Given the description of an element on the screen output the (x, y) to click on. 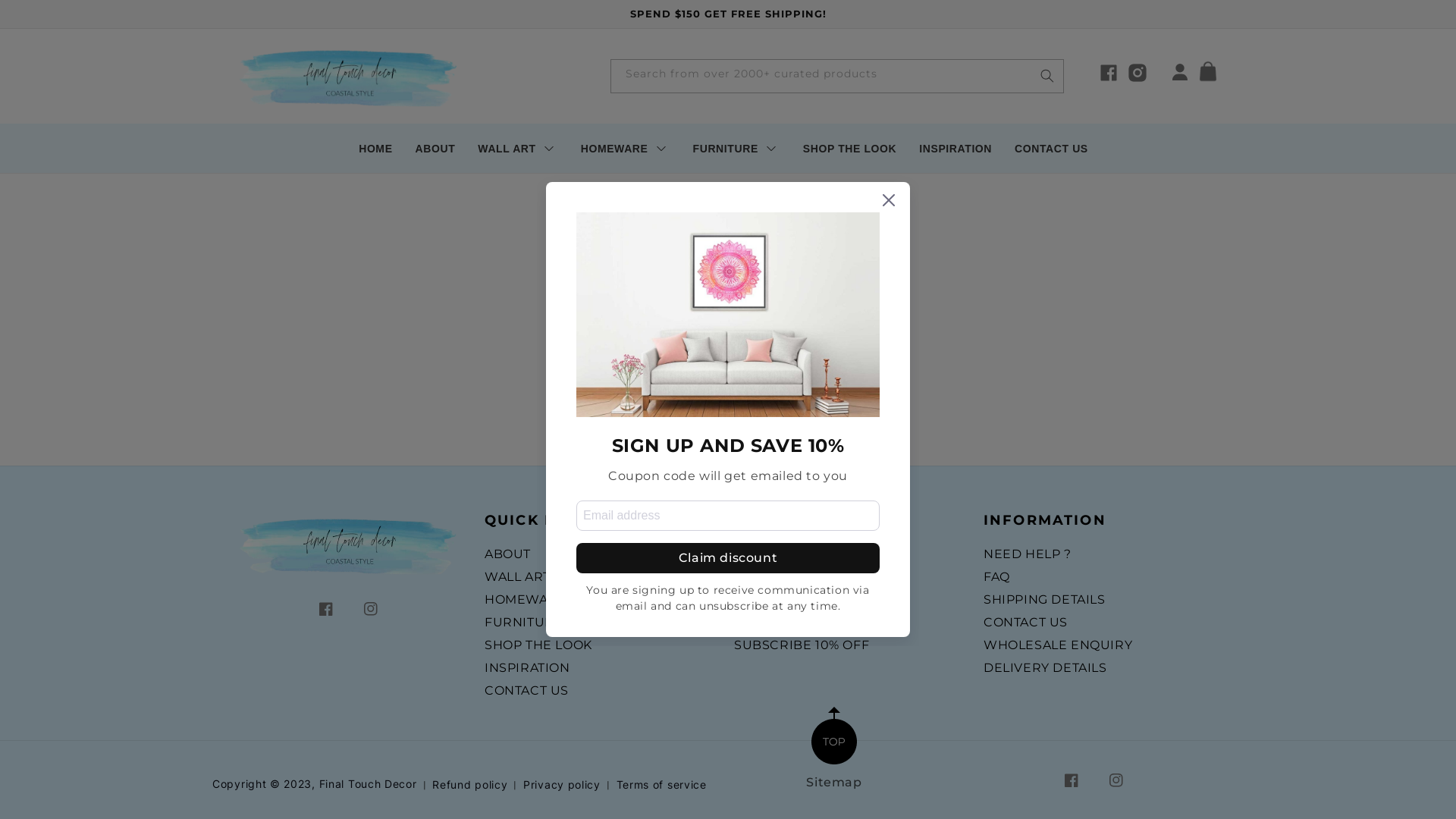
WALL ART Element type: text (517, 576)
CONTACT US Element type: text (1051, 147)
Cart Element type: text (1213, 74)
SHIPPING DETAILS Element type: text (1044, 599)
FURNITURE Element type: text (736, 147)
Final Touch Decor Element type: text (368, 783)
FURNITURE Element type: text (523, 622)
WHOLESALE ENQUIRY Element type: text (1057, 644)
CONTACT US Element type: text (1025, 622)
INSPIRATION Element type: text (527, 667)
Facebook Element type: text (325, 608)
CONTACT US Element type: text (526, 690)
SHOP THE LOOK Element type: text (849, 147)
Facebook Element type: text (1071, 780)
NEED HELP ? Element type: text (1027, 555)
MY ACCOUNT Element type: text (778, 555)
HOMEWARE Element type: text (625, 147)
Privacy policy Element type: text (561, 784)
WALL ART Element type: text (517, 147)
MY WISHLIST Element type: text (777, 622)
Terms of service Element type: text (661, 784)
INSPIRATION Element type: text (955, 147)
Refund policy Element type: text (469, 784)
SUBSCRIBE 10% OFF Element type: text (801, 644)
Instagram Element type: text (1115, 780)
SHOPPING CART Element type: text (788, 576)
HOME Element type: text (375, 147)
DELIVERY DETAILS Element type: text (1045, 667)
SHOP THE LOOK Element type: text (538, 644)
FAQ Element type: text (996, 576)
Instagram Element type: text (369, 608)
HOMEWARE Element type: text (525, 599)
Continue shopping Element type: text (728, 388)
Log in Element type: text (1179, 74)
MY ORDER Element type: text (770, 599)
ABOUT Element type: text (435, 147)
ABOUT Element type: text (507, 555)
